Given the description of an element on the screen output the (x, y) to click on. 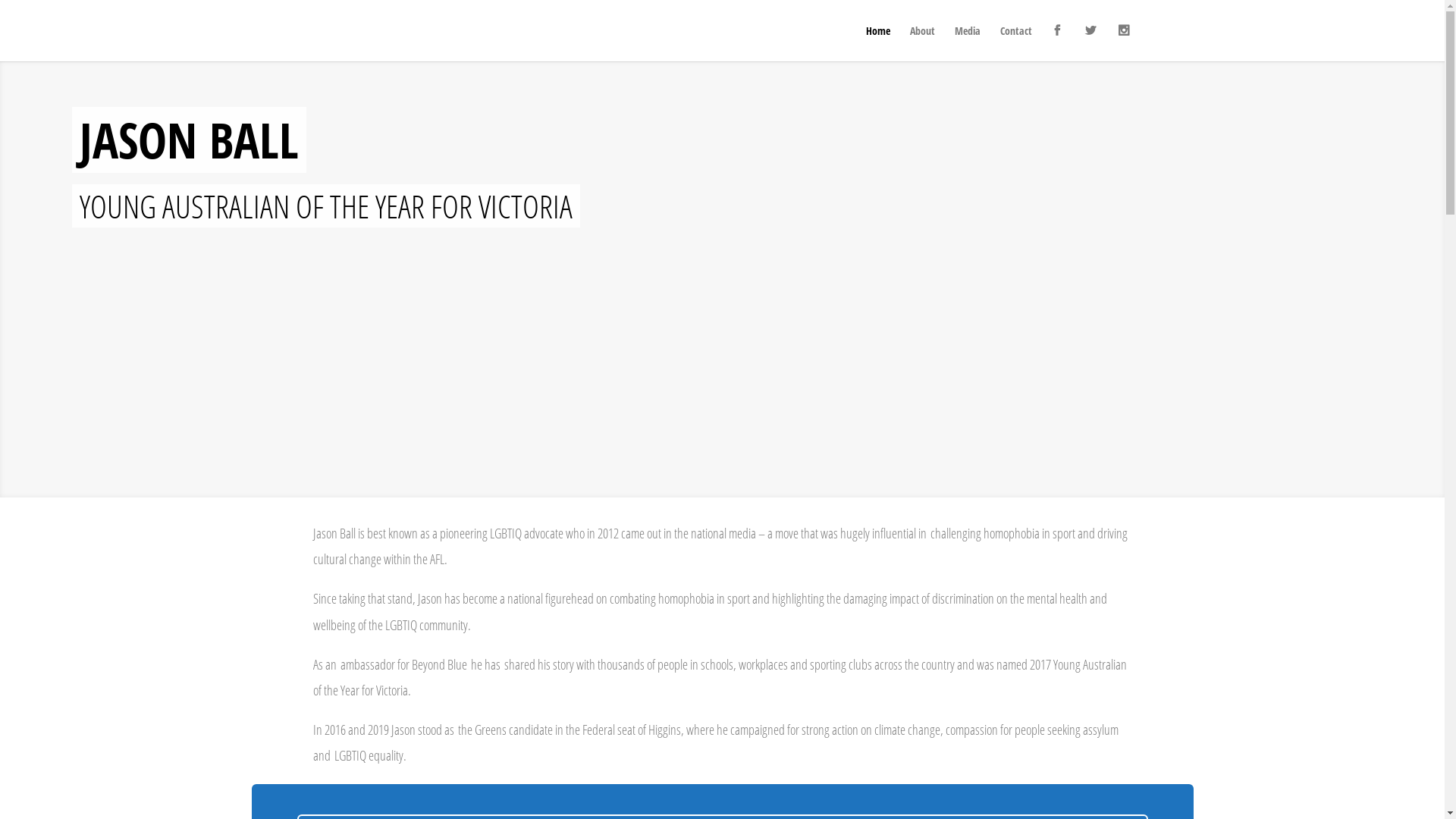
Home Element type: text (878, 43)
About Element type: text (922, 43)
Media Element type: text (966, 43)
Contact Element type: text (1015, 43)
